Given the description of an element on the screen output the (x, y) to click on. 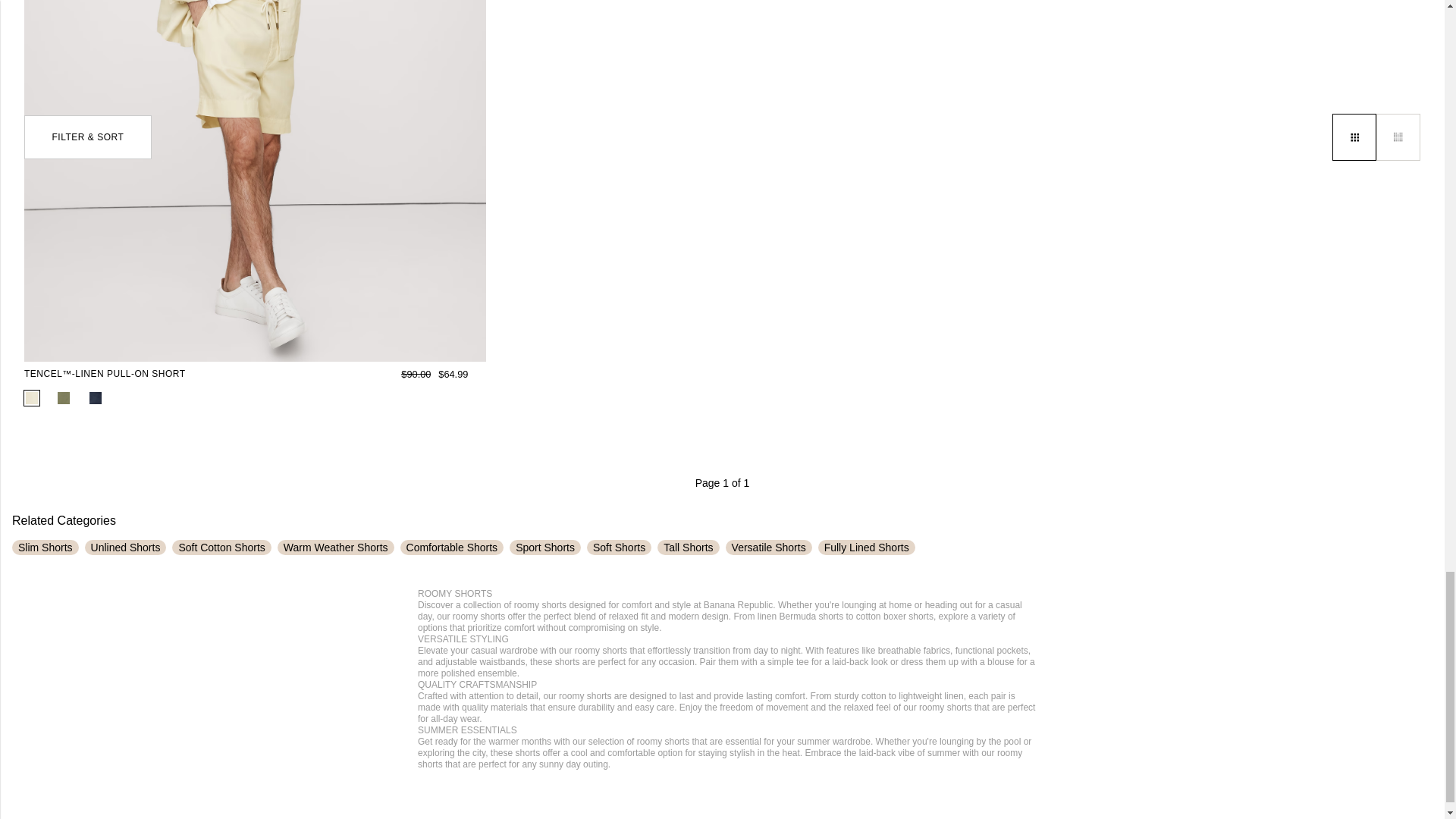
yellow (31, 398)
green (63, 398)
blue (94, 398)
